Given the description of an element on the screen output the (x, y) to click on. 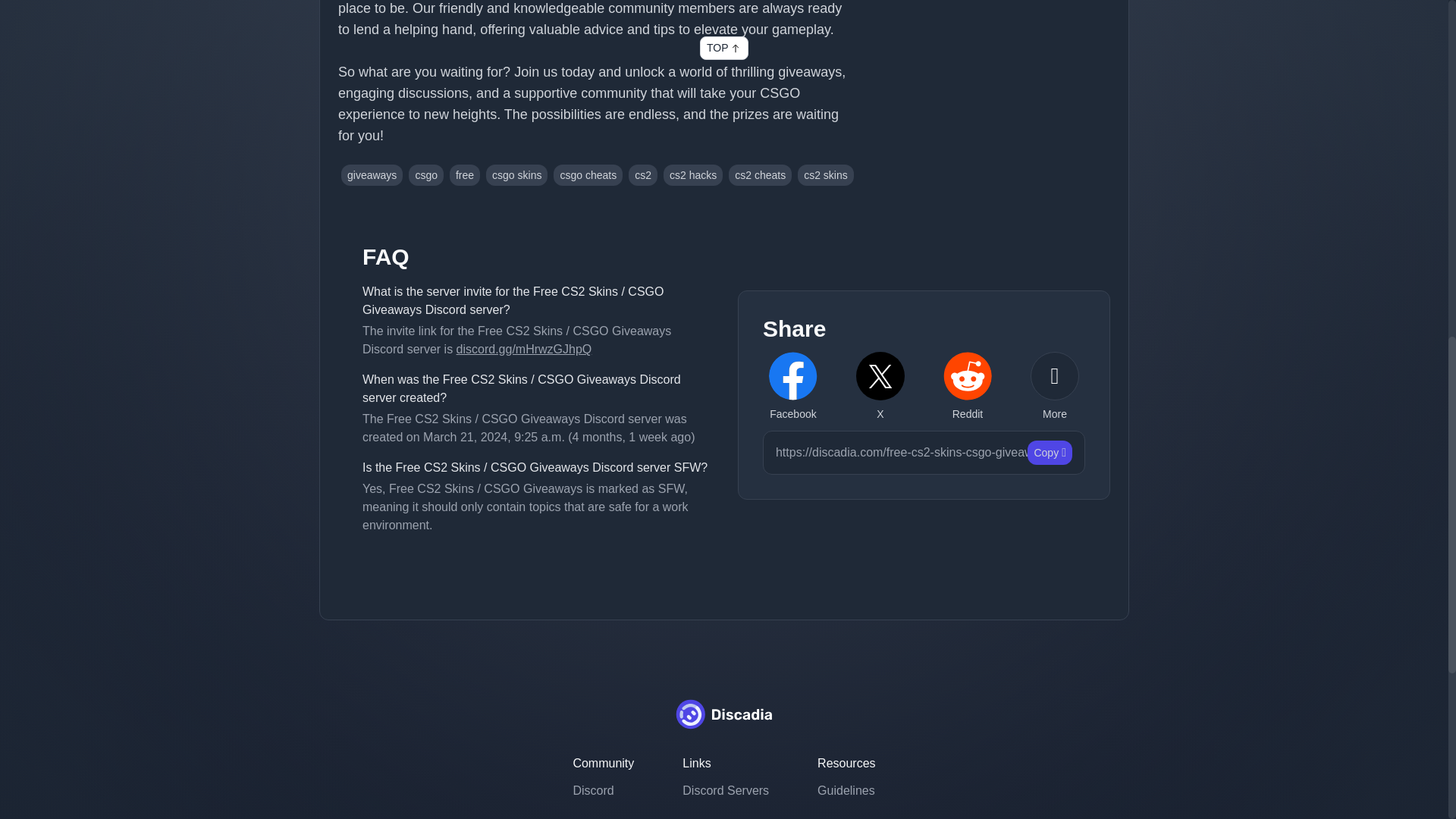
Privacy (845, 814)
giveaways (371, 174)
csgo skins (516, 174)
Discord Servers (725, 791)
cs2 hacks (692, 174)
free (464, 174)
Discord (602, 791)
cs2 (643, 174)
cs2 cheats (760, 174)
csgo (426, 174)
Blog (602, 814)
cs2 skins (825, 174)
Discord Emojis (725, 814)
csgo cheats (588, 174)
Guidelines (845, 791)
